Given the description of an element on the screen output the (x, y) to click on. 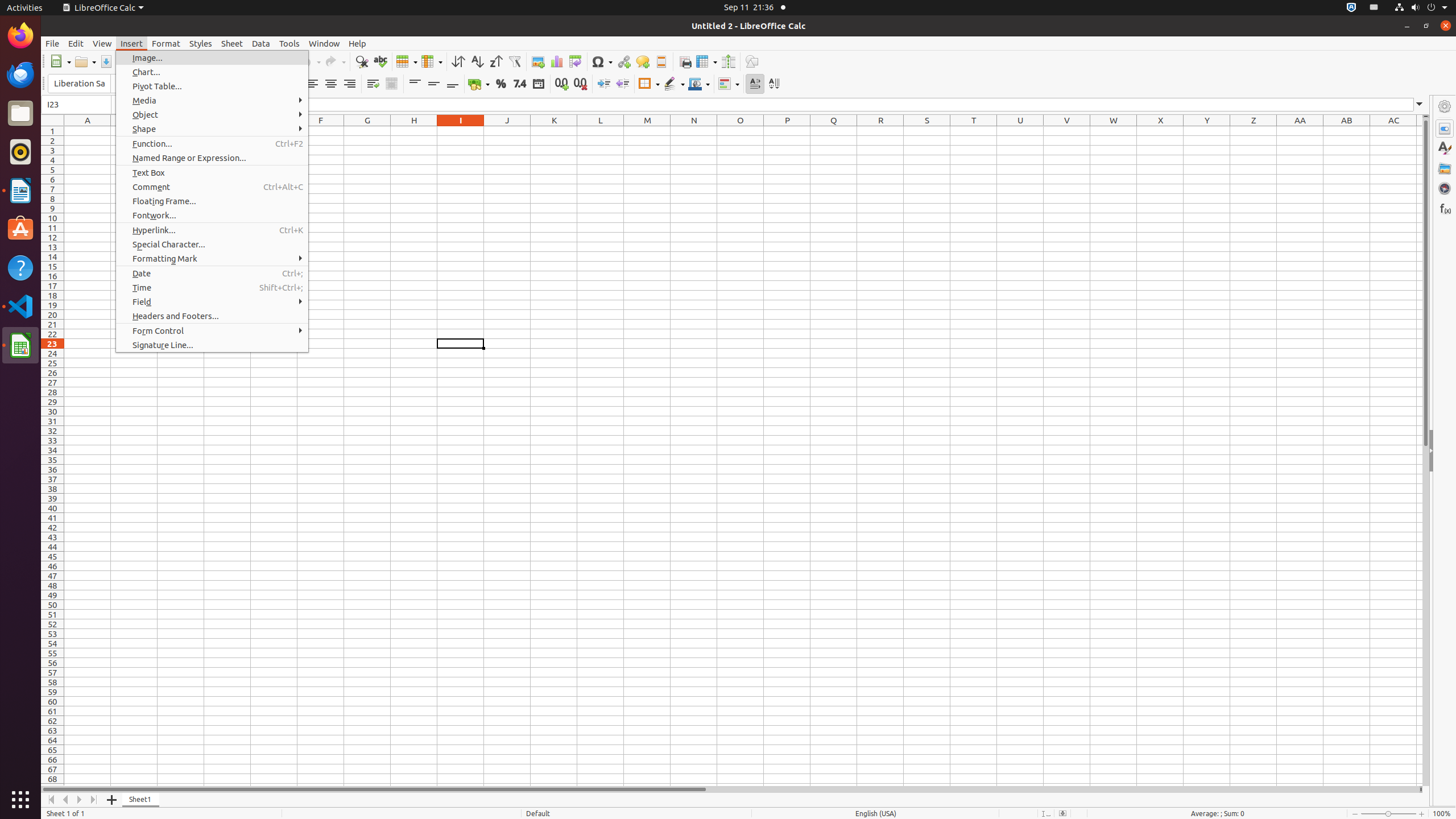
Image... Element type: menu-item (212, 57)
AD1 Element type: table-cell (1419, 130)
Move To Home Element type: push-button (51, 799)
Align Bottom Element type: push-button (452, 83)
